Given the description of an element on the screen output the (x, y) to click on. 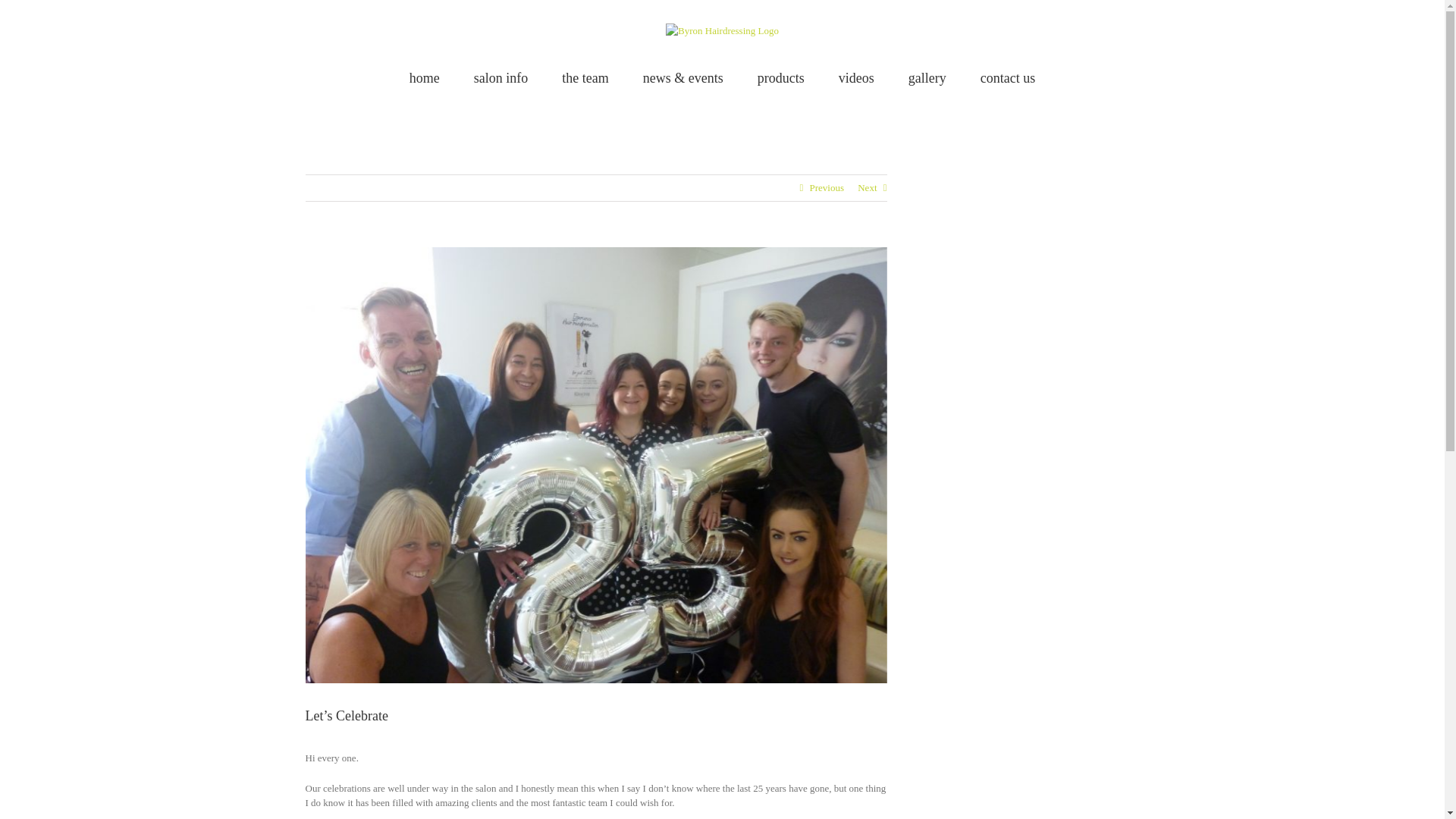
Previous (826, 187)
gallery (927, 77)
videos (856, 77)
salon info (501, 77)
products (781, 77)
the team (585, 77)
home (424, 77)
contact us (1007, 77)
